Given the description of an element on the screen output the (x, y) to click on. 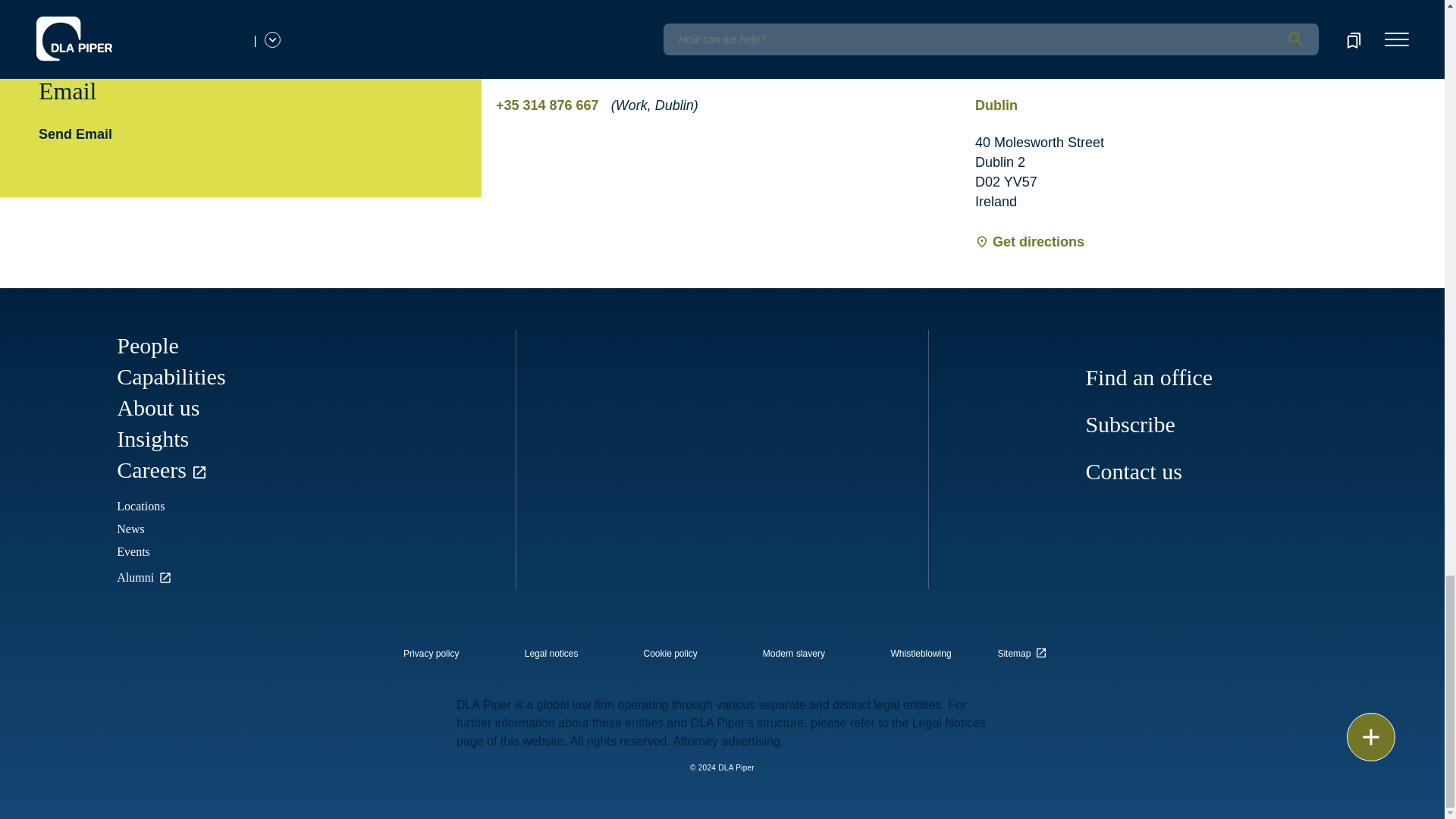
internal (549, 653)
external (1024, 649)
internal (920, 653)
internal (430, 653)
internal (670, 653)
internal (793, 653)
